Given the description of an element on the screen output the (x, y) to click on. 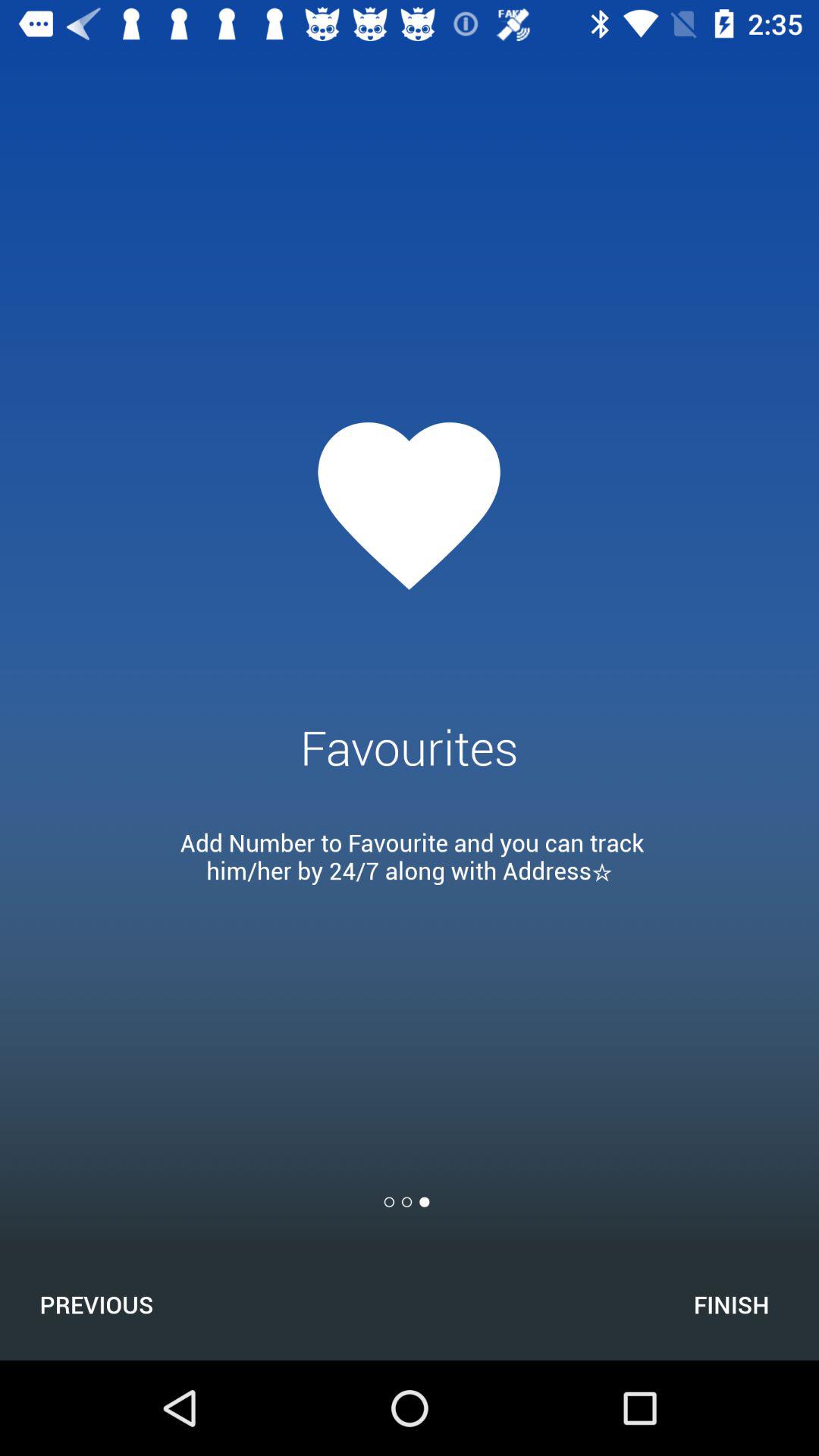
open the icon at the bottom right corner (731, 1304)
